Given the description of an element on the screen output the (x, y) to click on. 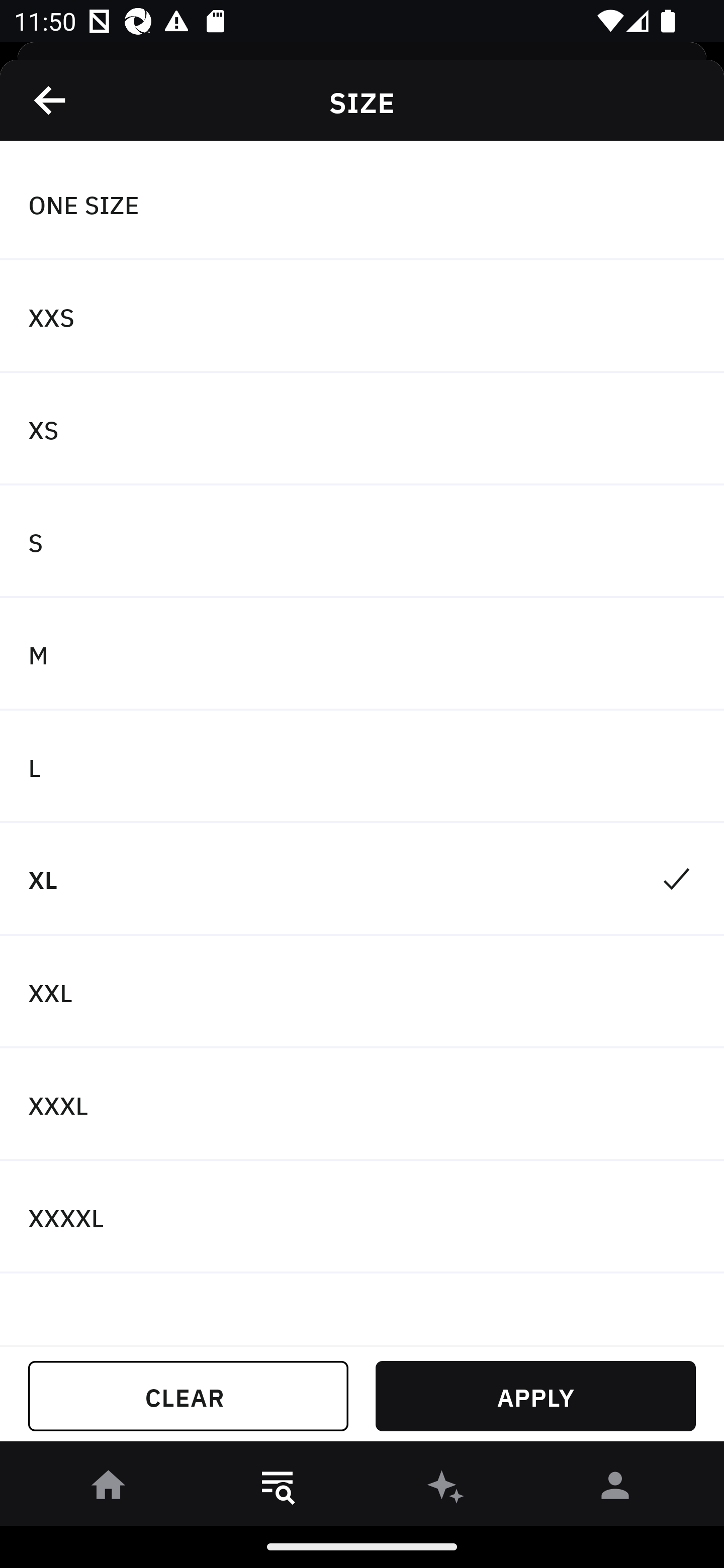
 (50, 100)
ONE SIZE (362, 203)
XXS (362, 316)
XS (362, 429)
S (362, 541)
M (362, 653)
L (362, 766)
XL  (362, 879)
XXL (362, 992)
XXXL (362, 1104)
XXXXL (362, 1216)
CLEAR  (188, 1396)
APPLY (535, 1396)
󰋜 (108, 1488)
󱎸 (277, 1488)
󰫢 (446, 1488)
󰀄 (615, 1488)
